Given the description of an element on the screen output the (x, y) to click on. 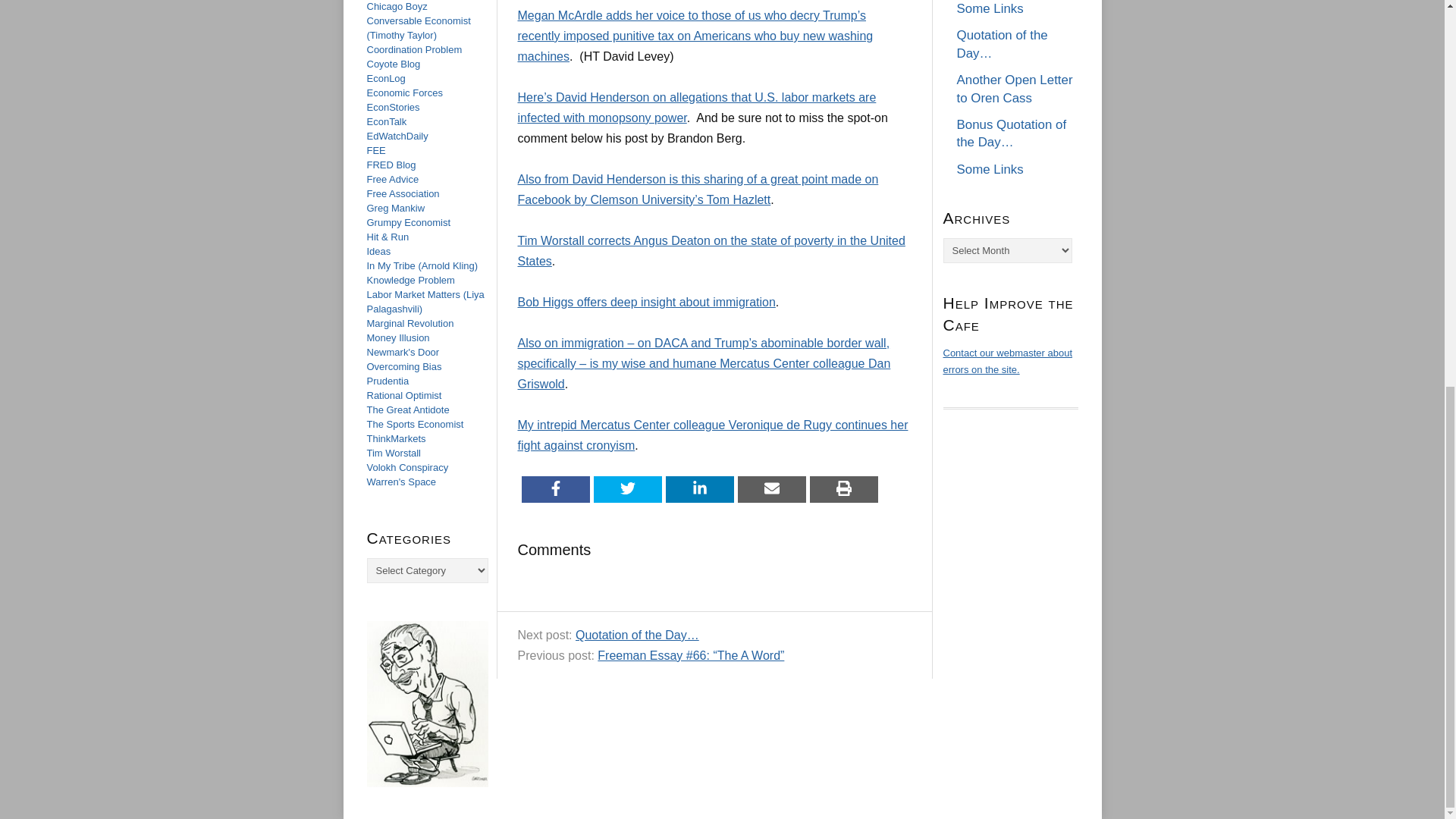
FEE (375, 150)
Greg Mankiw (395, 207)
EconStories (393, 107)
Knowledge Problem (410, 279)
Free Advice (392, 179)
EconLog (386, 78)
Marginal Revolution (410, 323)
Grumpy Economist (408, 222)
Economic Forces (404, 92)
FRED Blog (391, 164)
Newmark's Door (402, 351)
Coyote Blog (393, 63)
Coordination Problem (414, 49)
Free Association (402, 193)
EdWatchDaily (397, 135)
